Given the description of an element on the screen output the (x, y) to click on. 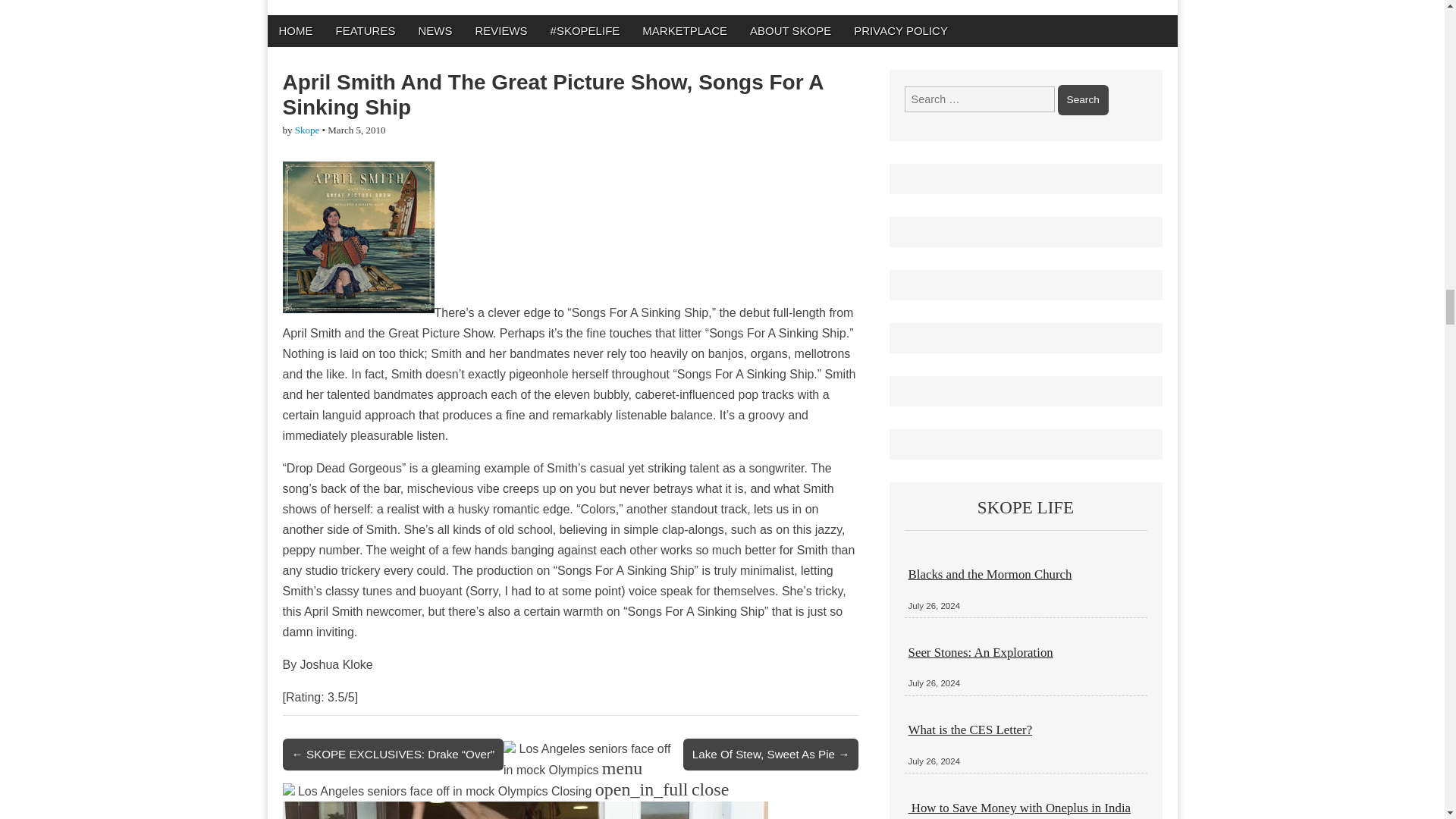
Search (1083, 100)
Search (1083, 100)
Seer Stones: An Exploration (980, 652)
Skope (307, 129)
What is the CES Letter? (970, 729)
Search (1083, 100)
HOME (294, 30)
PRIVACY POLICY (901, 30)
Posts by Skope (307, 129)
FEATURES (365, 30)
Blacks and the Mormon Church (989, 574)
REVIEWS (500, 30)
 How to Save Money with Oneplus in India Promo Codes? (1019, 809)
